Given the description of an element on the screen output the (x, y) to click on. 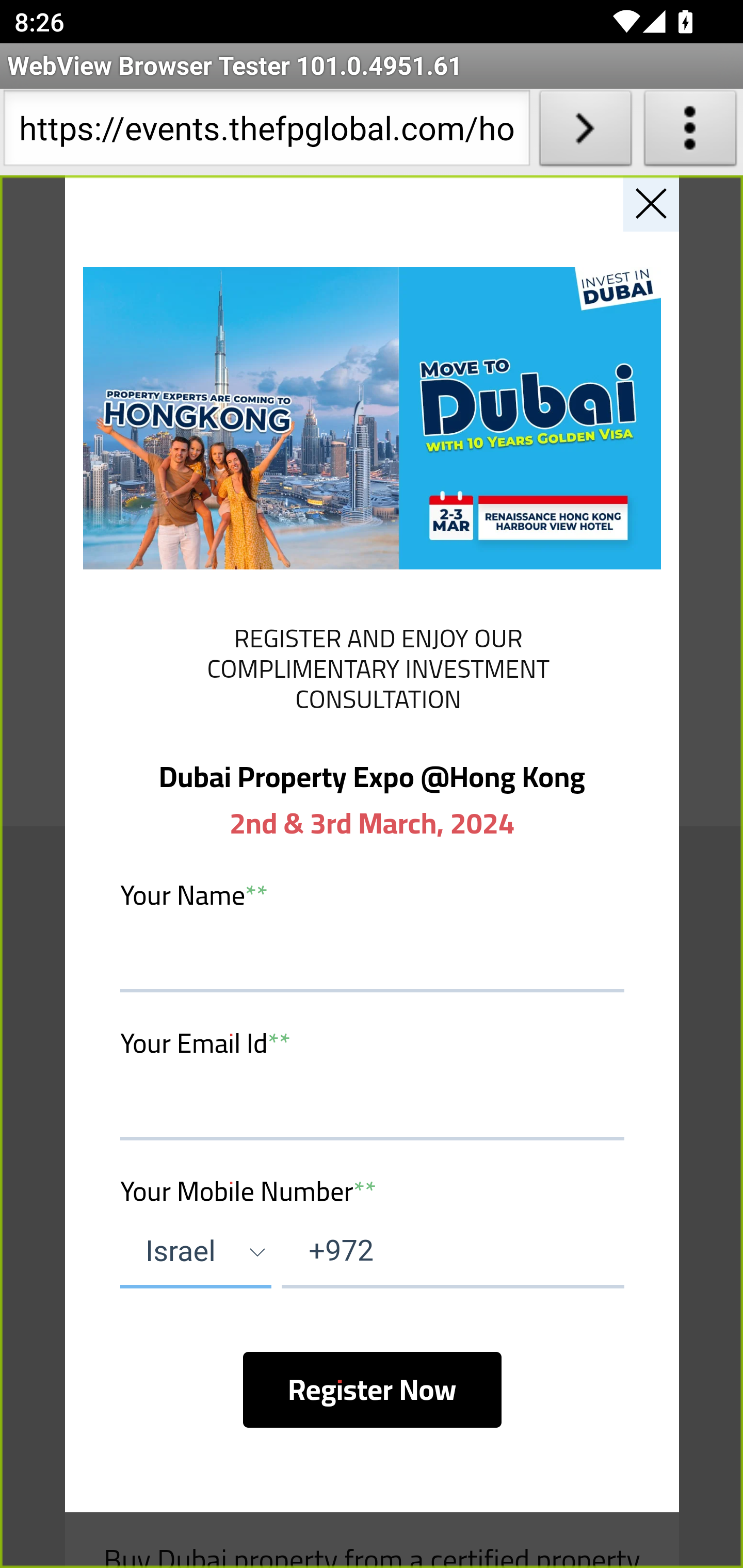
Load URL (585, 132)
About WebView (690, 132)
 REGISTER NOW (371, 666)
Israel (‫ישראל‬‎) (195, 1251)
+972  (451, 1251)
Register Now (372, 1389)
